Given the description of an element on the screen output the (x, y) to click on. 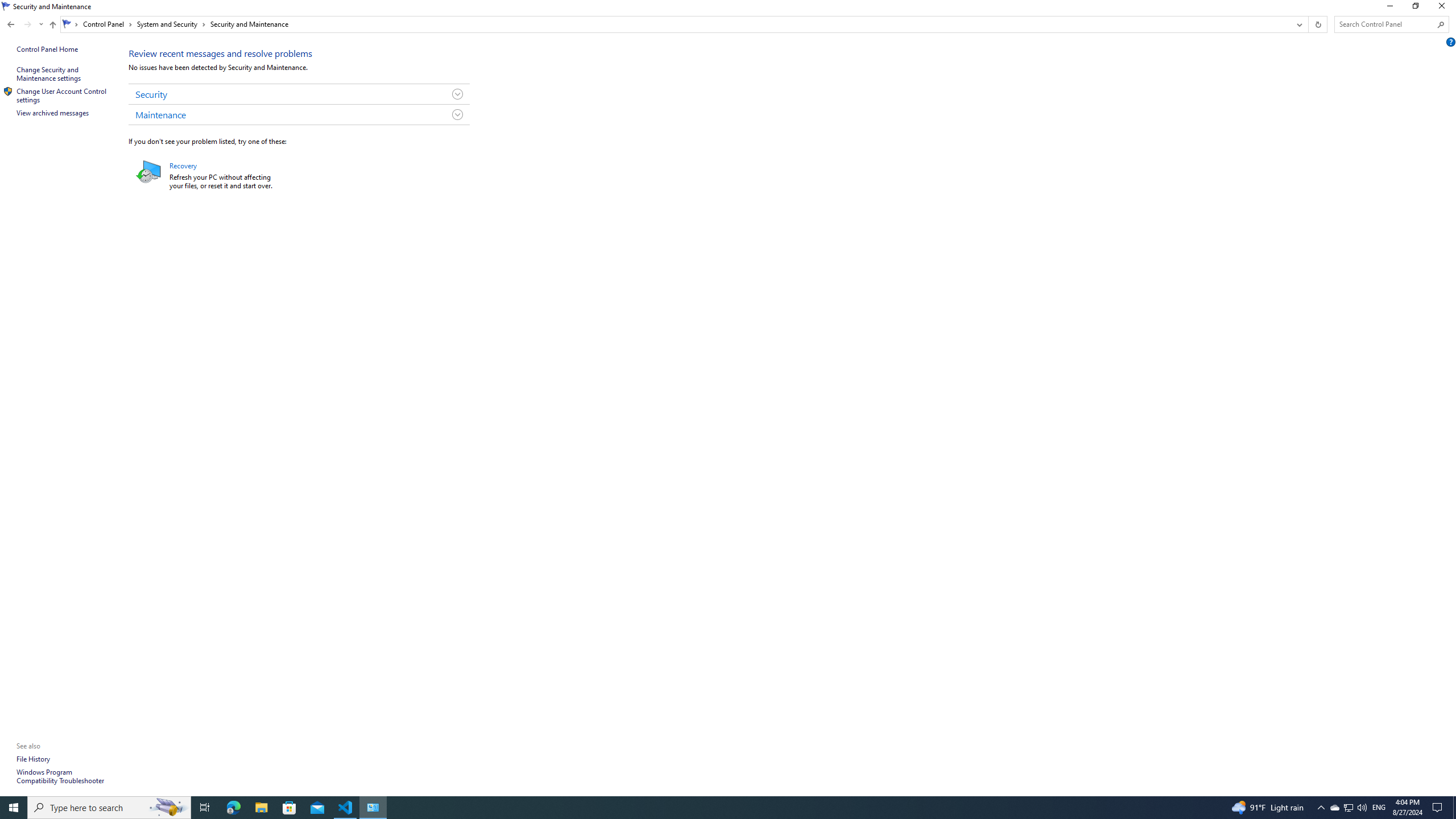
Forward (Alt + Right Arrow) (27, 23)
Recent locations (40, 23)
Toggle Security Group (457, 93)
Recovery (182, 165)
Up to "System and Security" (Alt + Up Arrow) (52, 24)
Change User Account Control settings (62, 95)
Previous Locations (1298, 23)
Security and Maintenance (249, 23)
Search (1441, 24)
